Given the description of an element on the screen output the (x, y) to click on. 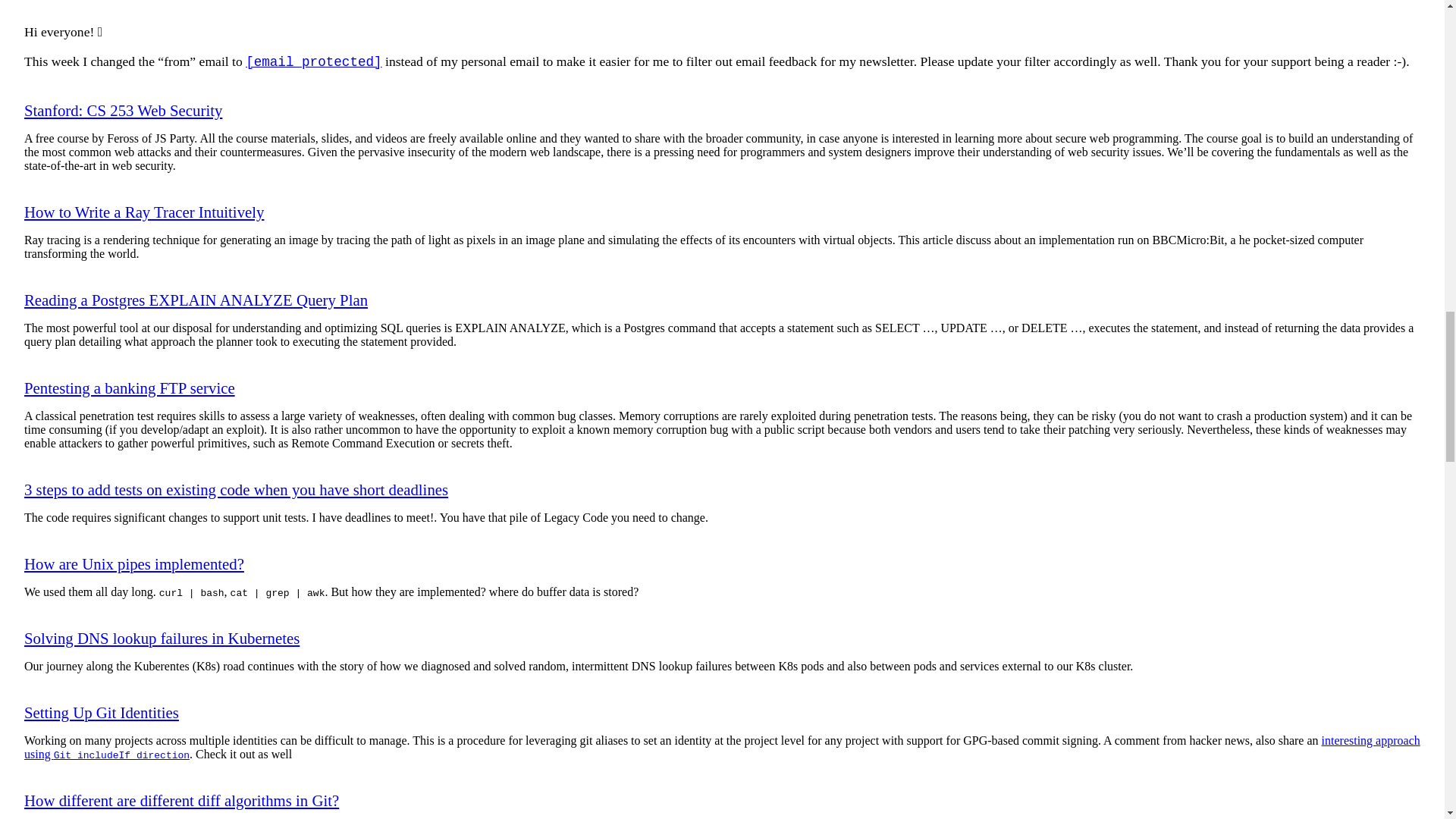
Solving DNS lookup failures in Kubernetes (161, 638)
Stanford: CS 253 Web Security (123, 109)
How different are different diff algorithms in Git? (181, 800)
interesting approach using Git includeIf direction (722, 746)
How are Unix pipes implemented? (134, 563)
Setting Up Git Identities (101, 712)
How to Write a Ray Tracer Intuitively (143, 211)
Reading a Postgres EXPLAIN ANALYZE Query Plan (196, 299)
Pentesting a banking FTP service (129, 387)
